Given the description of an element on the screen output the (x, y) to click on. 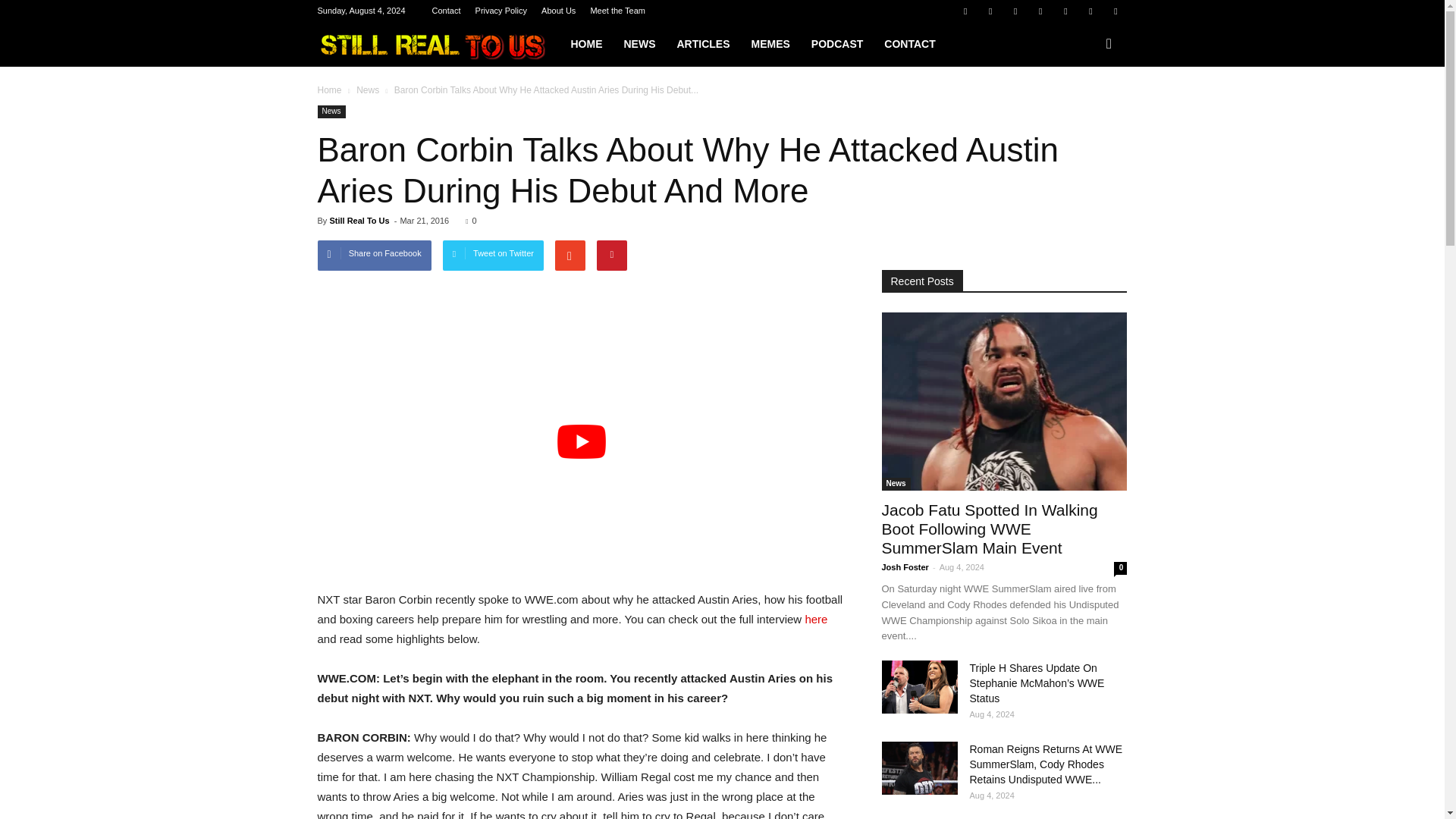
HOME (585, 43)
MEMES (769, 43)
Pinterest (1040, 10)
Privacy Policy (501, 10)
PODCAST (836, 43)
CONTACT (908, 43)
Twitter (1090, 10)
StillRealToUs.com (438, 43)
Meet the Team (617, 10)
Facebook (964, 10)
